Given the description of an element on the screen output the (x, y) to click on. 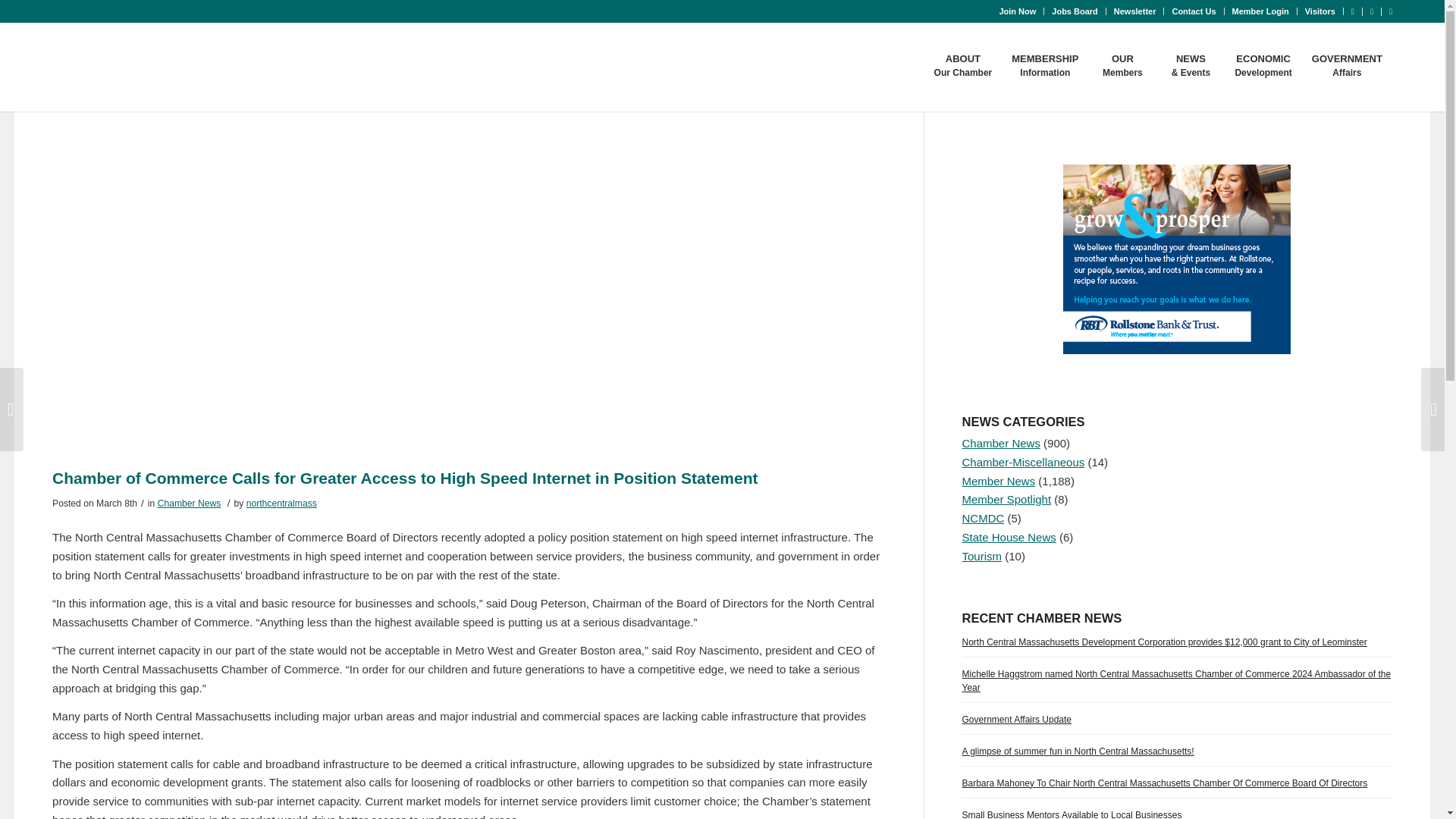
Contact Us (1193, 11)
logo-new (154, 66)
Join Now (1044, 65)
Member Login (1016, 11)
Jobs Board (1259, 11)
Visitors (1074, 11)
